Given the description of an element on the screen output the (x, y) to click on. 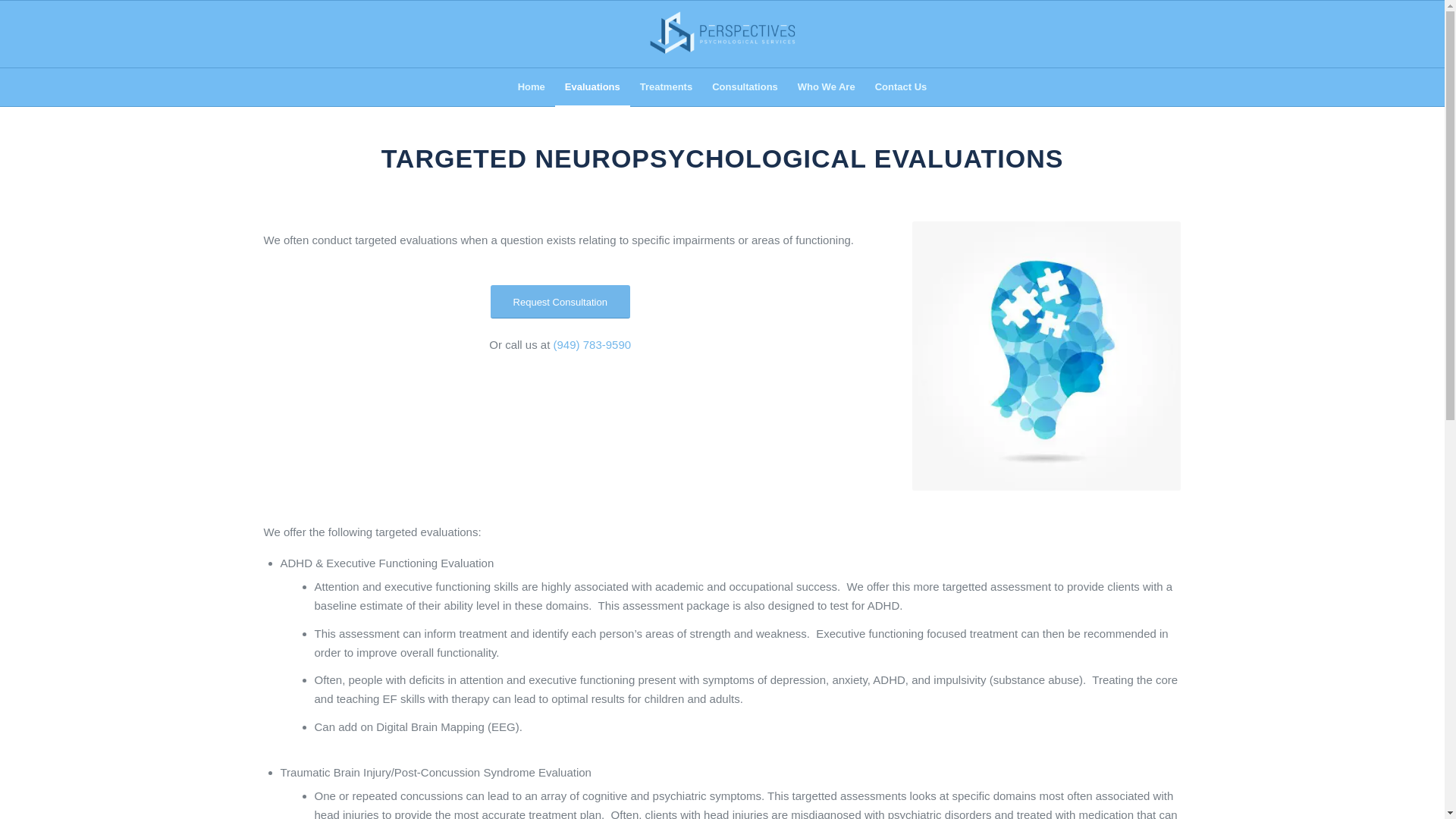
Contact Us (900, 86)
Consultations (744, 86)
Targeted Treatment (1046, 355)
Who We Are (825, 86)
Request Consultation (560, 302)
Evaluations (592, 86)
Treatments (665, 86)
Home (531, 86)
